Given the description of an element on the screen output the (x, y) to click on. 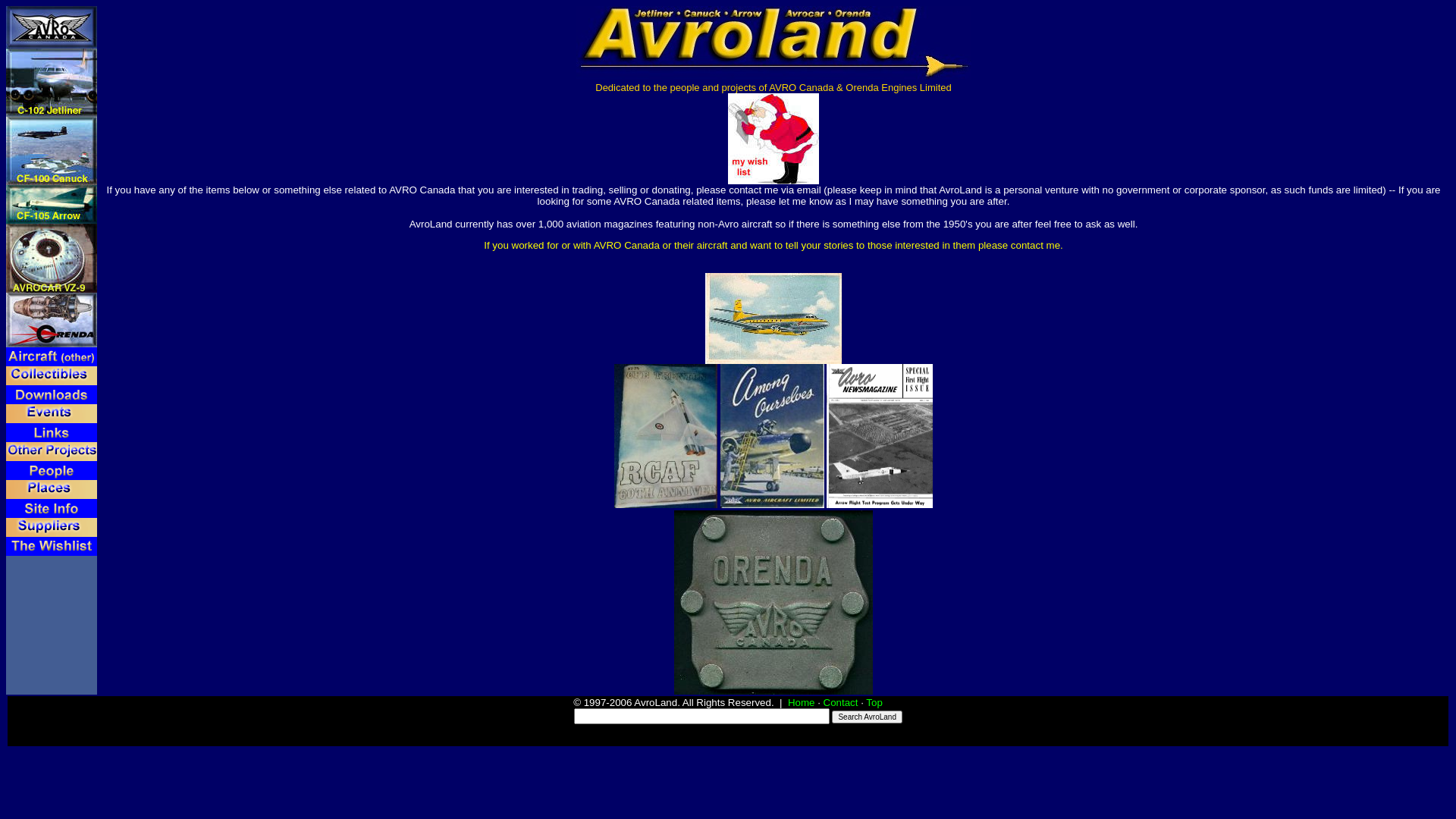
Search AvroLand Element type: text (866, 716)
Home Element type: text (801, 702)
Top Element type: text (874, 702)
Contact Element type: text (840, 702)
